Given the description of an element on the screen output the (x, y) to click on. 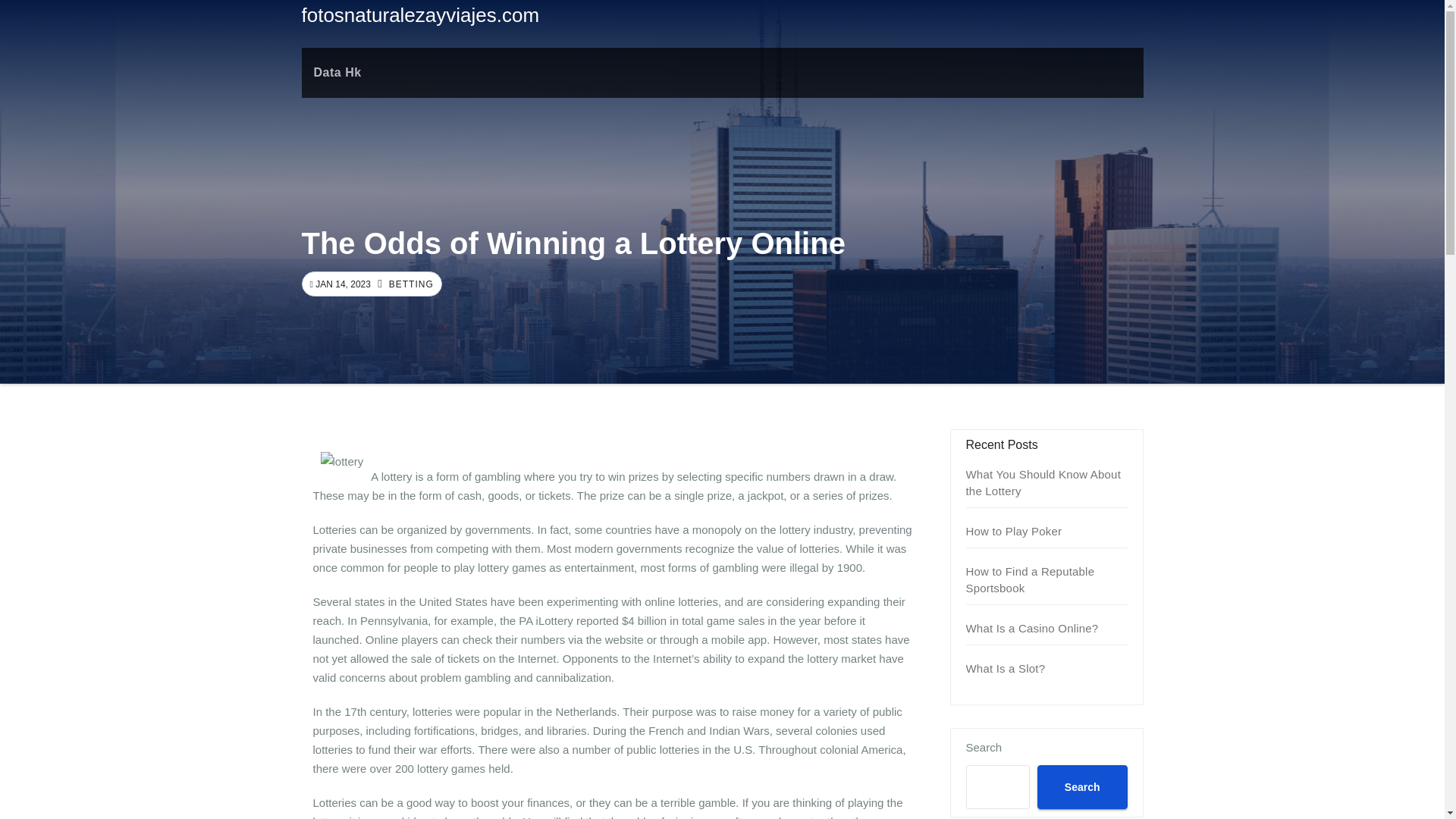
Data Hk (337, 72)
What You Should Know About the Lottery (1043, 482)
How to Find a Reputable Sportsbook (1030, 579)
Search (1081, 786)
What Is a Casino Online? (1032, 627)
Data Hk (337, 72)
How to Play Poker (1014, 530)
fotosnaturalezayviajes.com (420, 15)
What Is a Slot? (1005, 667)
BETTING (409, 284)
